Given the description of an element on the screen output the (x, y) to click on. 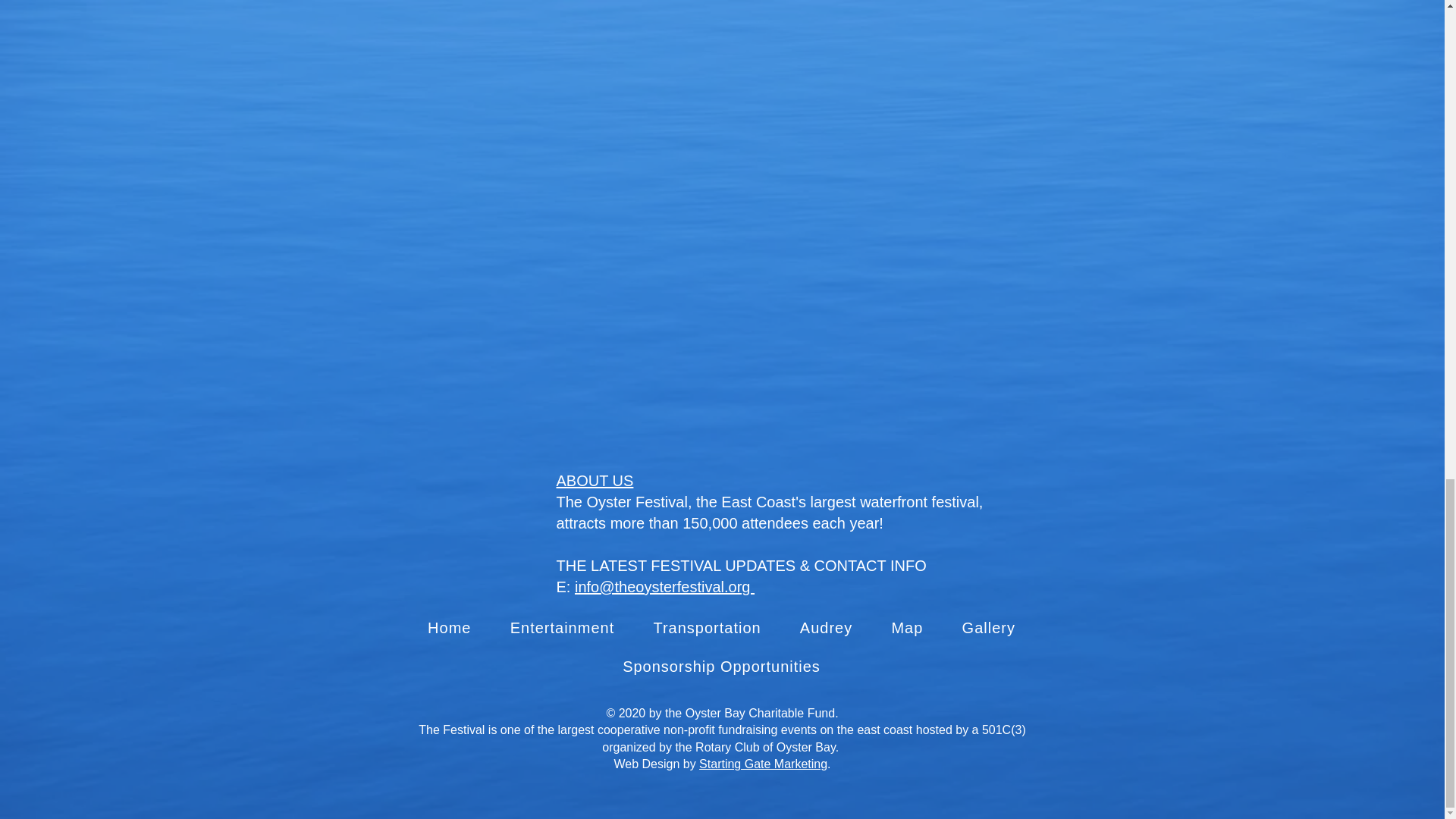
Starting Gate Marketing (762, 763)
Audrey (826, 627)
Entertainment (561, 627)
Map (907, 627)
Sponsorship Opportunities (720, 666)
Home (448, 627)
ABOUT US (594, 480)
Gallery (988, 627)
Transportation (707, 627)
